Given the description of an element on the screen output the (x, y) to click on. 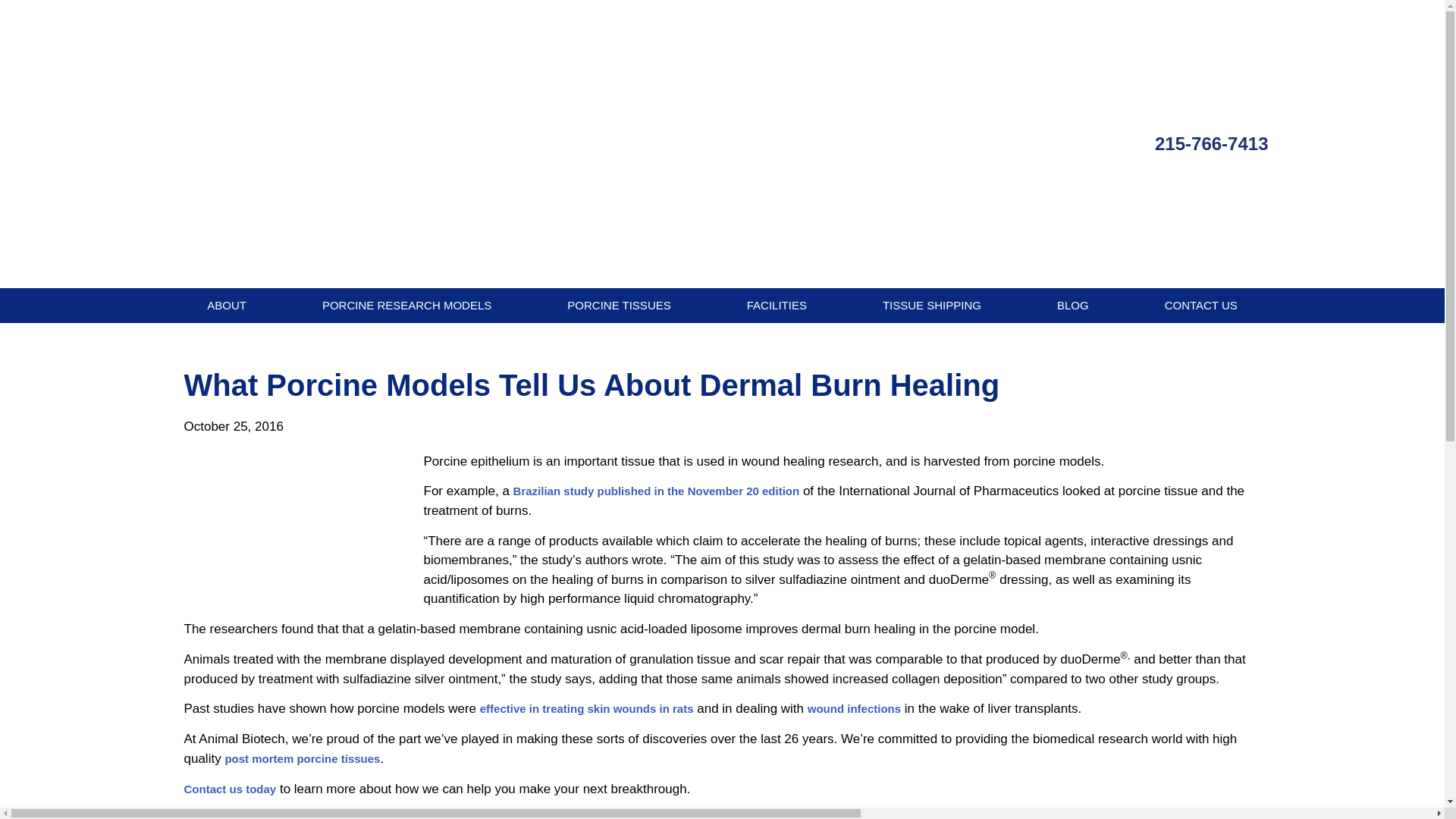
effective in treating skin wounds in rats (587, 707)
ABOUT (226, 305)
CONTACT US (1201, 305)
PORCINE TISSUES (618, 305)
TISSUE SHIPPING (932, 305)
FACILITIES (776, 305)
post mortem porcine tissues (302, 758)
Contact us today (229, 788)
PORCINE RESEARCH MODELS (406, 305)
Brazilian study published in the November 20 edition (656, 490)
BLOG (1072, 305)
215-766-7413 (1211, 143)
wound infections (854, 707)
